Given the description of an element on the screen output the (x, y) to click on. 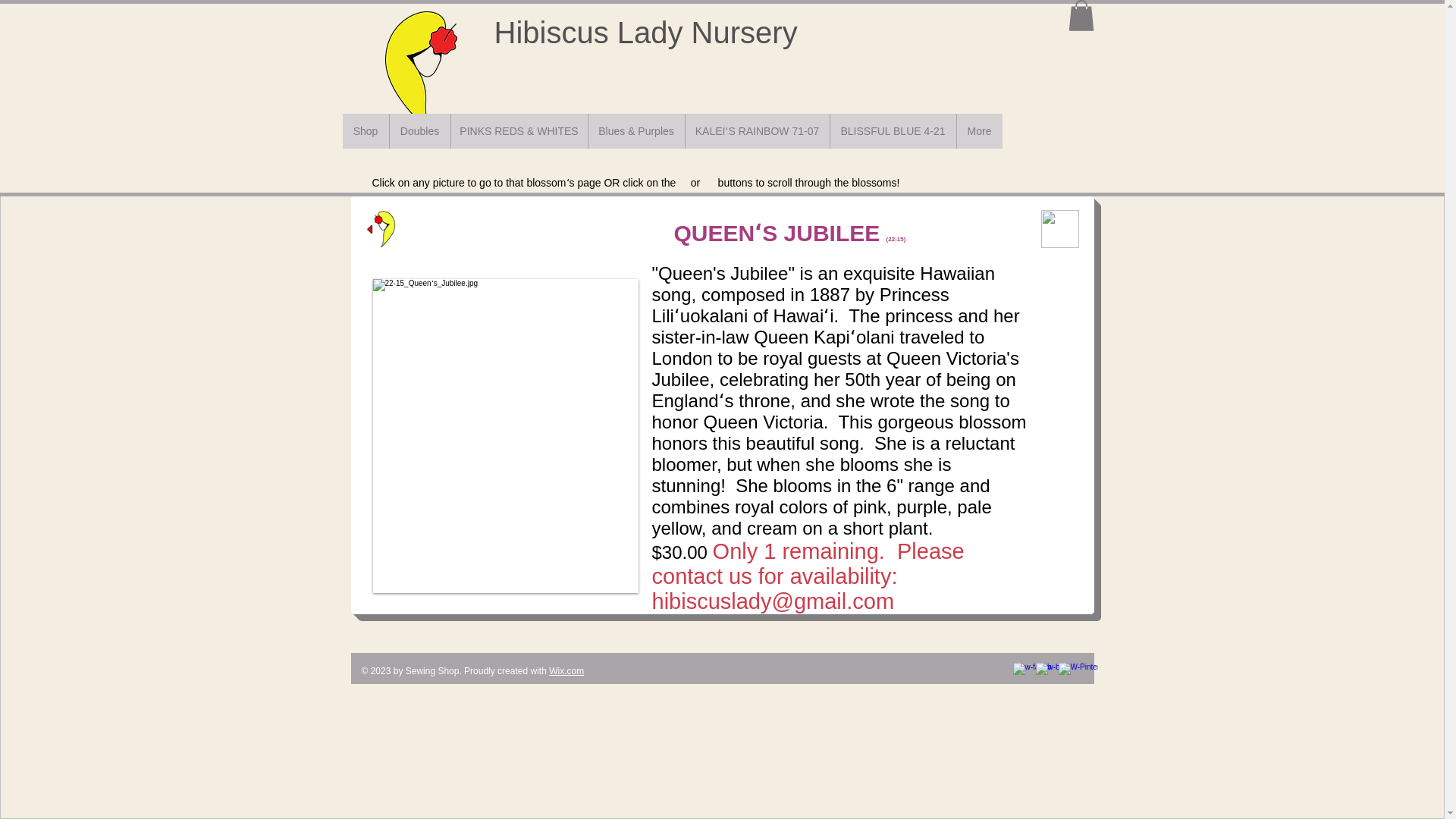
Wix.com (565, 670)
Doubles (418, 130)
BLISSFUL BLUE 4-21 (892, 130)
Shop (365, 130)
